Given the description of an element on the screen output the (x, y) to click on. 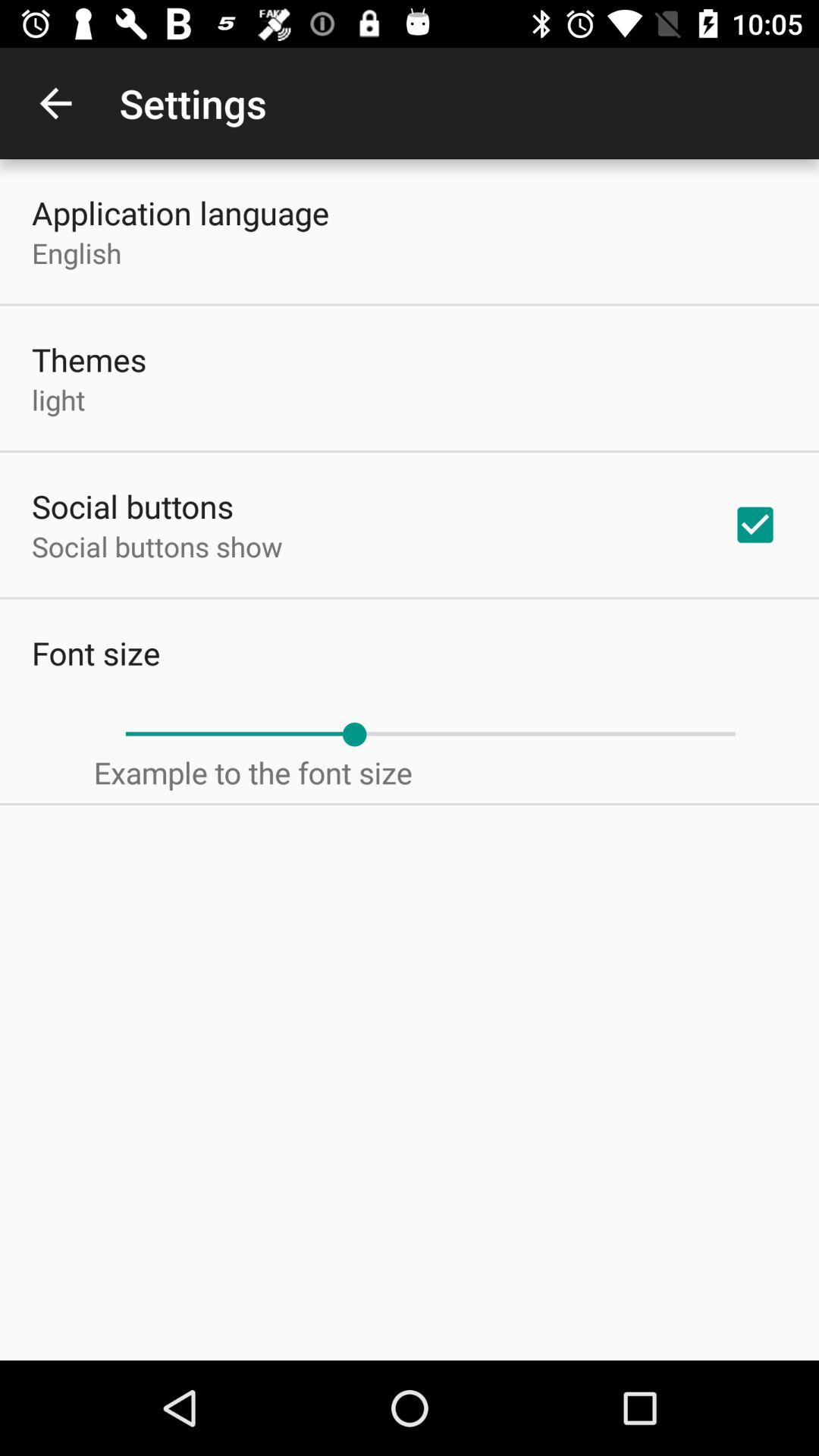
choose the icon below application language item (76, 252)
